Given the description of an element on the screen output the (x, y) to click on. 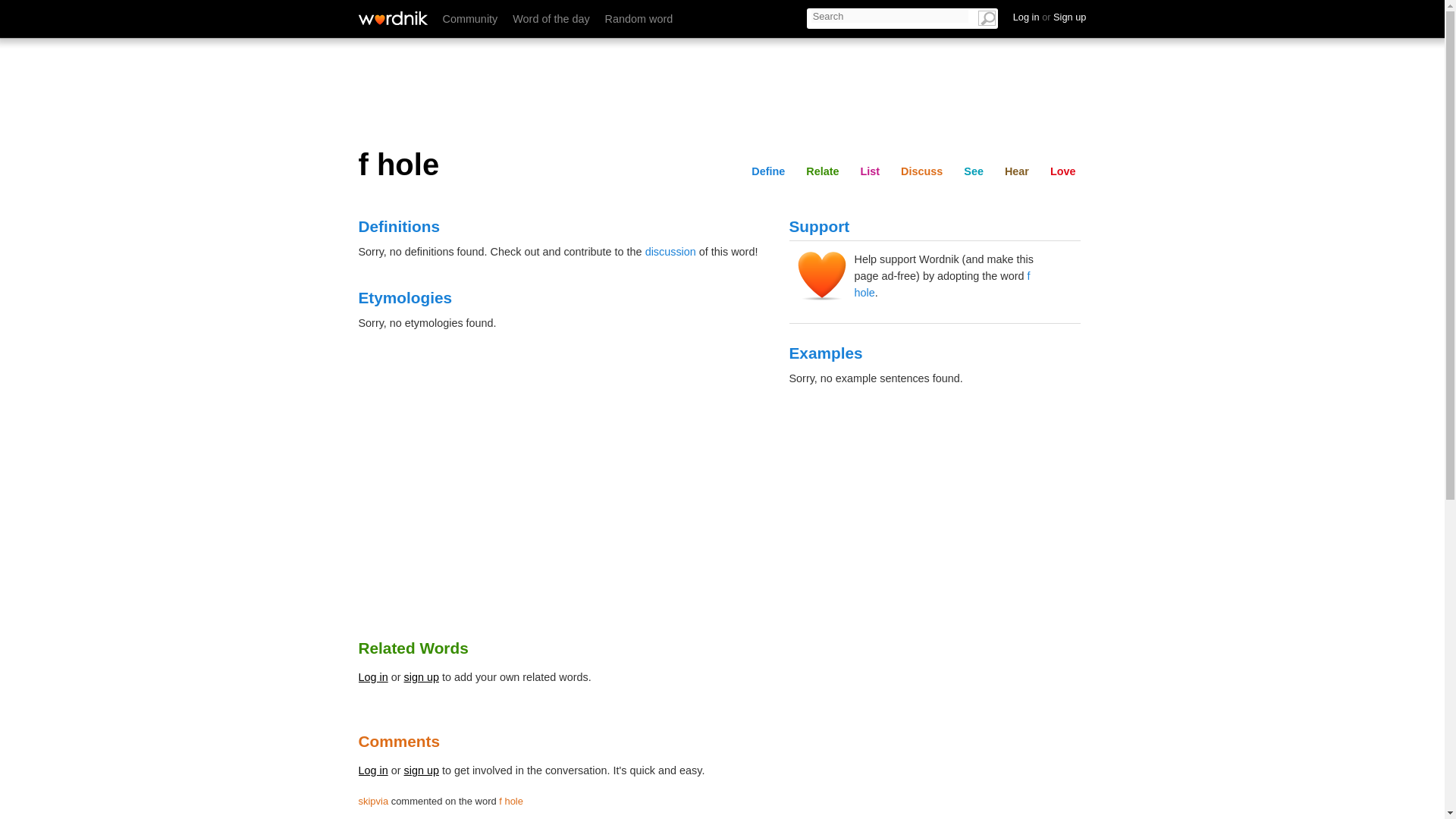
Wordnik Online Dictionary (392, 18)
Define (767, 171)
Random Word (638, 19)
See (974, 171)
List (907, 16)
sign up (421, 770)
Log in or Sign up (1049, 16)
Log in or Sign Up (1049, 16)
Love (1062, 171)
Hear (1063, 16)
Word of the day (550, 19)
Relate (821, 171)
3rd party ad content (721, 90)
Community (469, 19)
Word of the Day (550, 19)
